Given the description of an element on the screen output the (x, y) to click on. 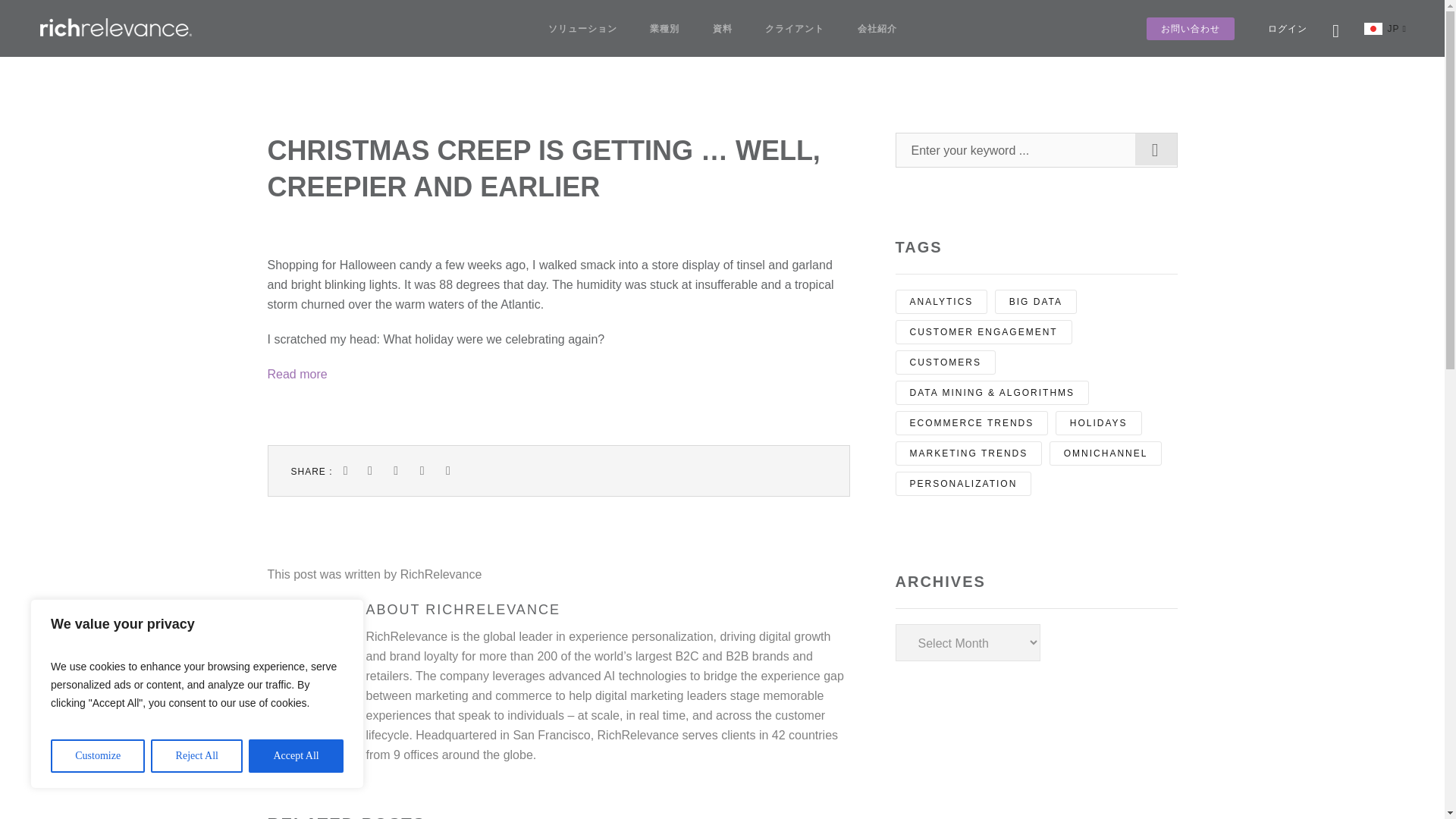
Accept All (295, 756)
Read more (296, 373)
Customize (97, 756)
Reject All (197, 756)
